Given the description of an element on the screen output the (x, y) to click on. 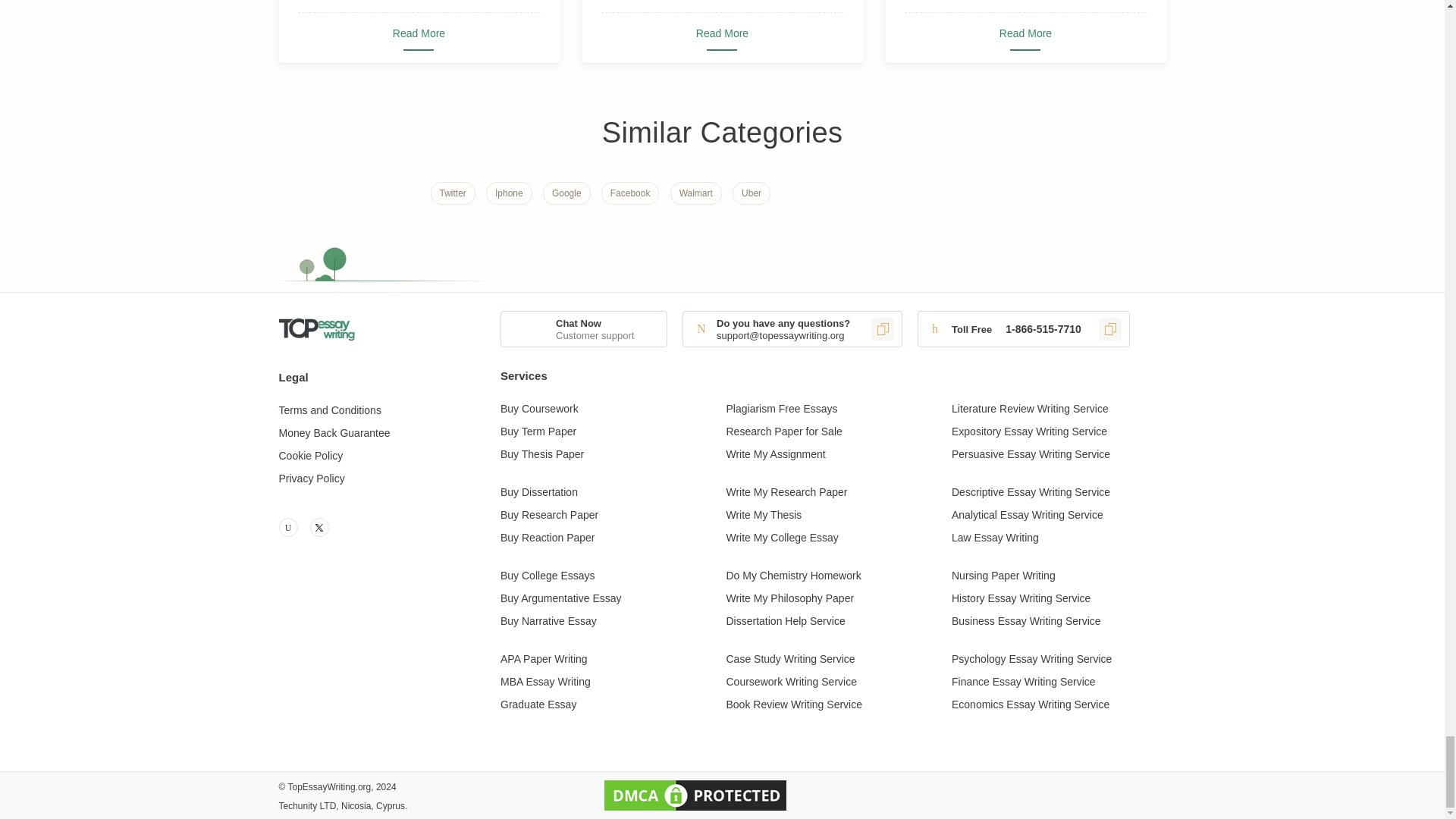
DMCA.com Protection Status (694, 795)
Copied to clipboard (1110, 328)
Copied to clipboard (881, 328)
